Given the description of an element on the screen output the (x, y) to click on. 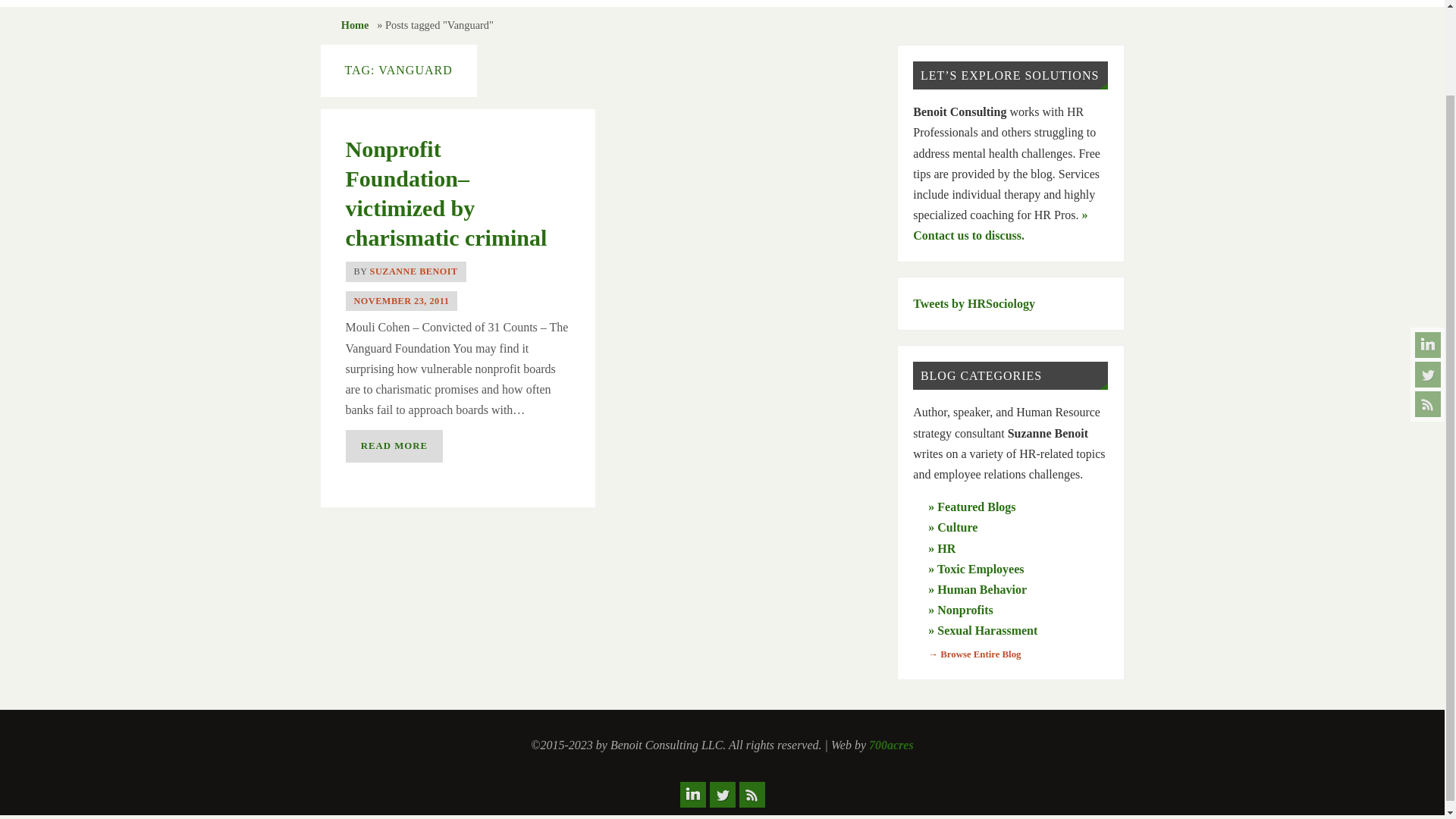
Twitter (1428, 275)
LinkedIn (691, 794)
700acres (891, 744)
SUZANNE BENOIT (413, 271)
View all posts by Suzanne Benoit (413, 271)
Benoit Consulting (564, 3)
LinkedIn (1428, 246)
READ MORE (395, 445)
RSS Feed (1428, 305)
Twitter (722, 794)
